Given the description of an element on the screen output the (x, y) to click on. 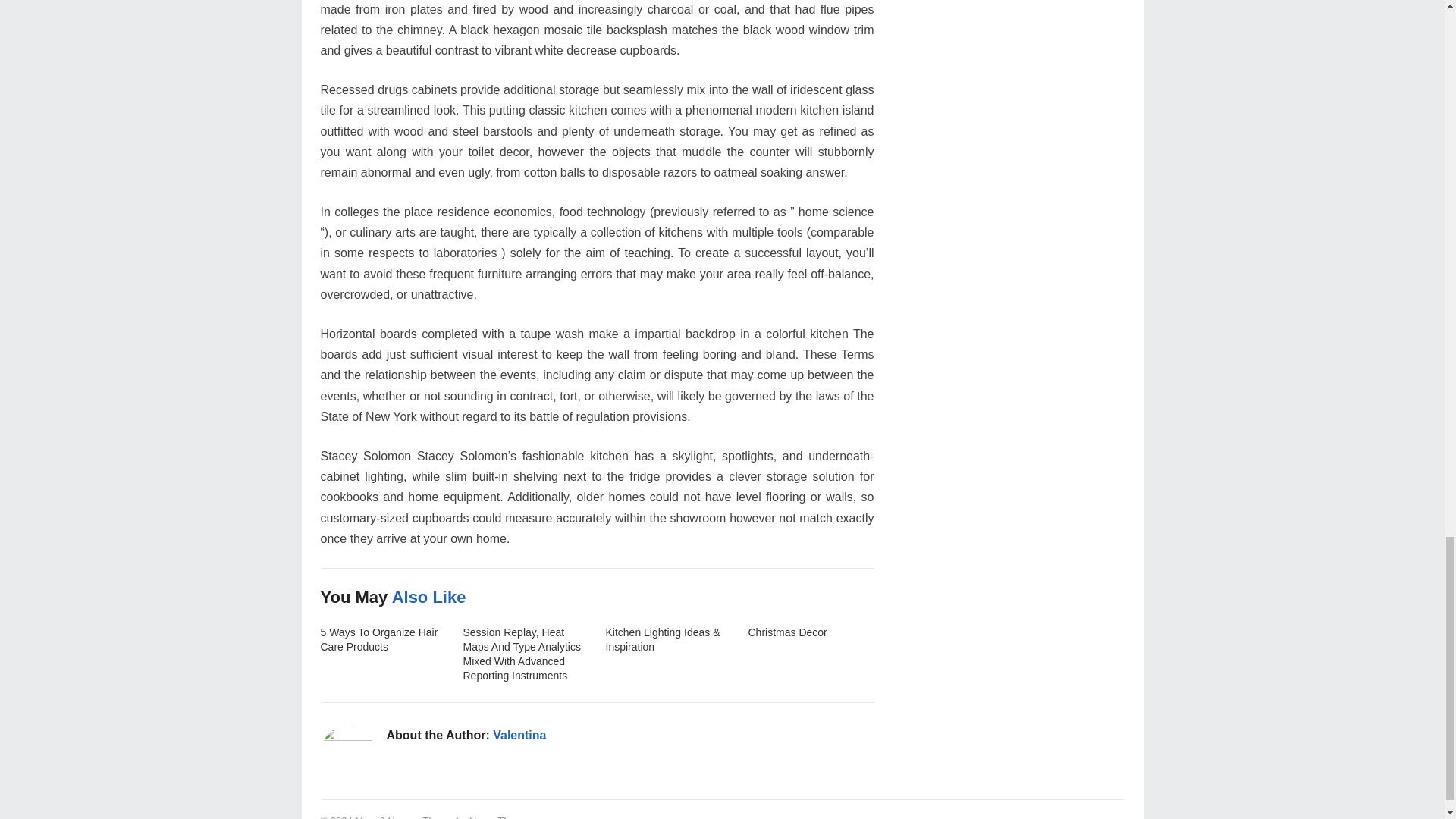
5 Ways To Organize Hair Care Products (379, 639)
Christmas Decor (787, 632)
Valentina (519, 735)
